Given the description of an element on the screen output the (x, y) to click on. 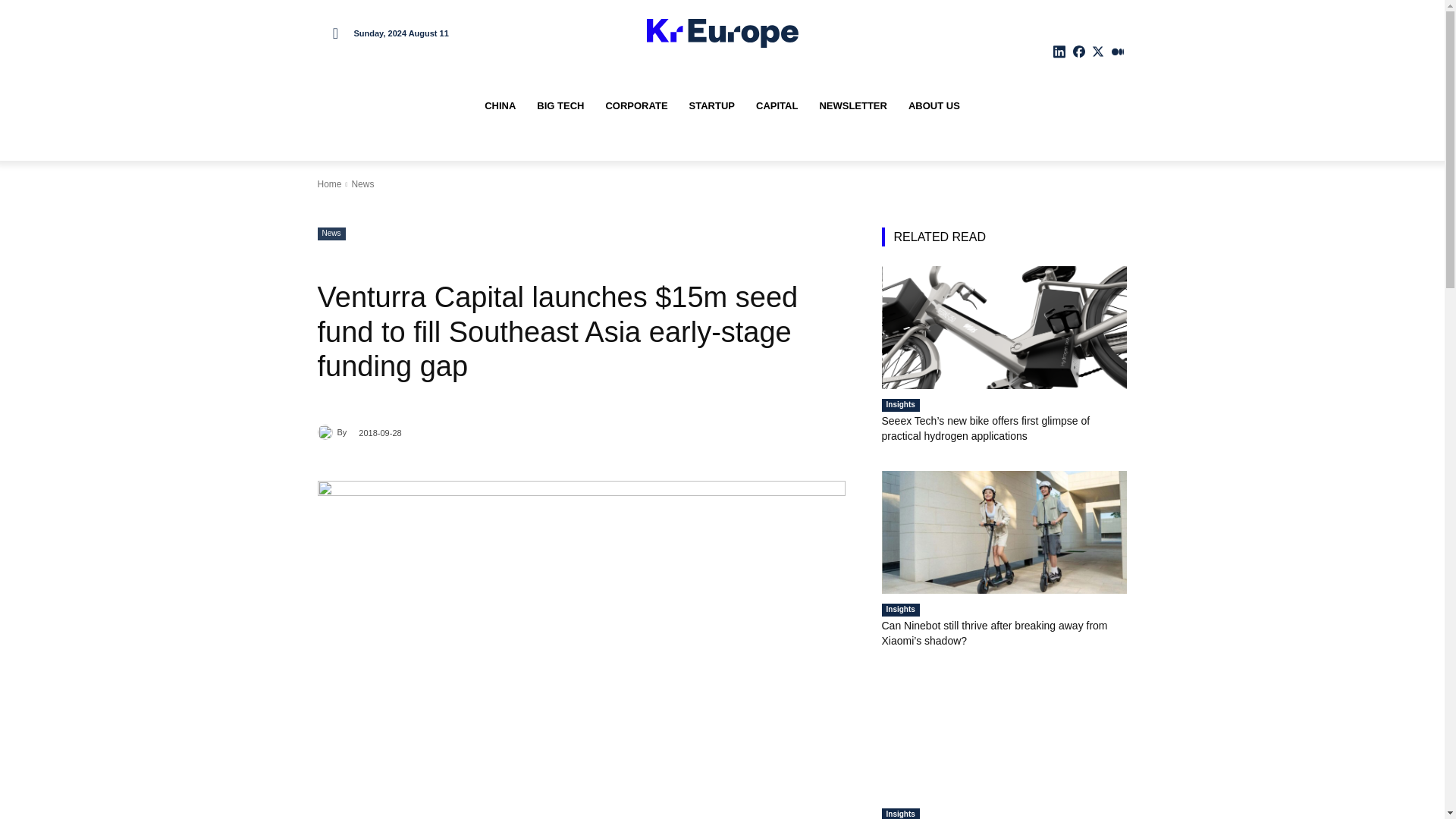
View all posts in News (362, 184)
Home (328, 184)
News (331, 233)
CHINA (499, 105)
News (362, 184)
ABOUT US (934, 105)
NEWSLETTER (853, 105)
CAPITAL (776, 105)
BIG TECH (559, 105)
STARTUP (711, 105)
